Given the description of an element on the screen output the (x, y) to click on. 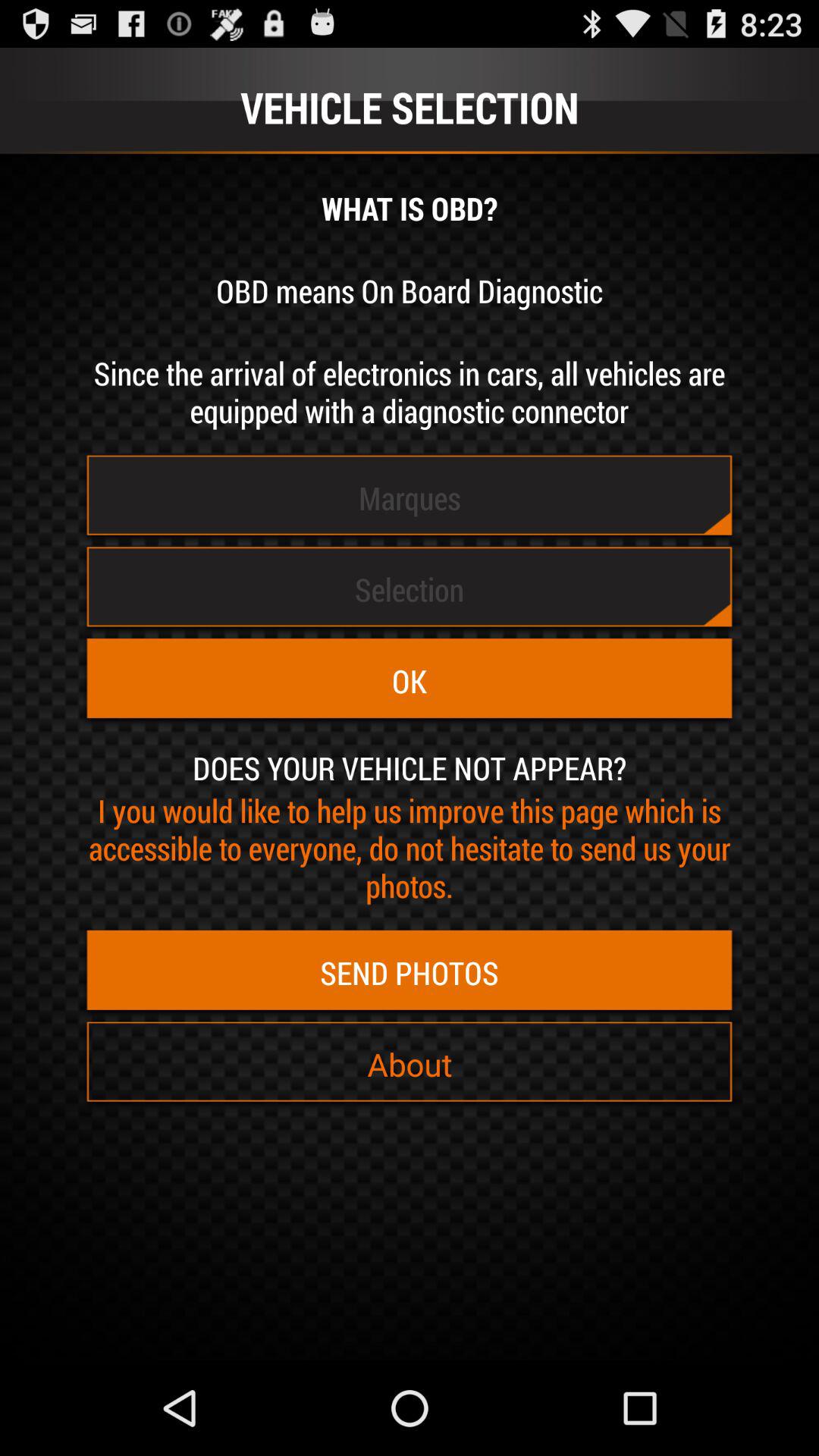
choose the item below selection button (409, 680)
